Given the description of an element on the screen output the (x, y) to click on. 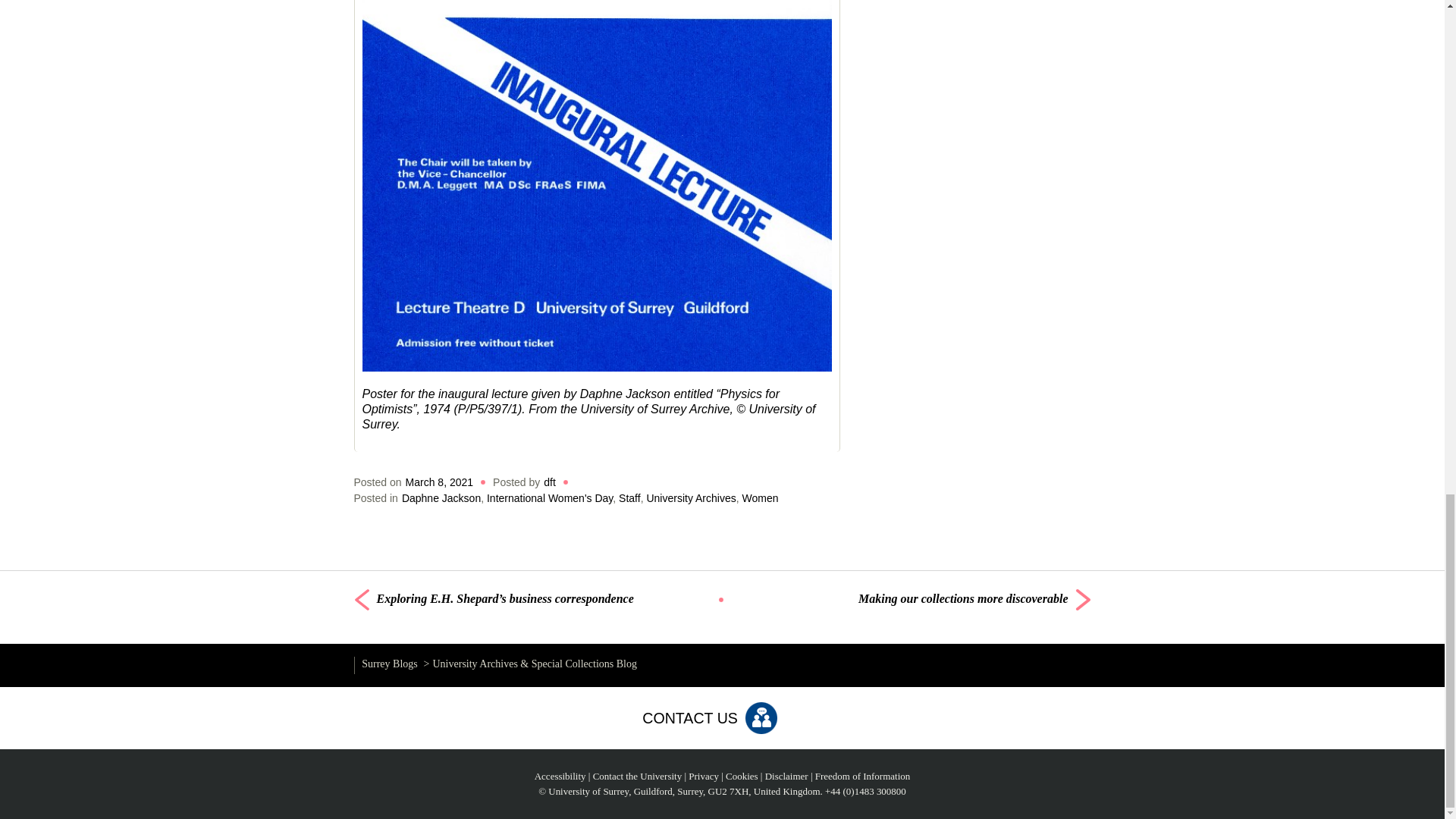
Staff (629, 498)
March 8, 2021 (440, 481)
International Women's Day (549, 498)
dft (549, 481)
Daphne Jackson (440, 498)
